Given the description of an element on the screen output the (x, y) to click on. 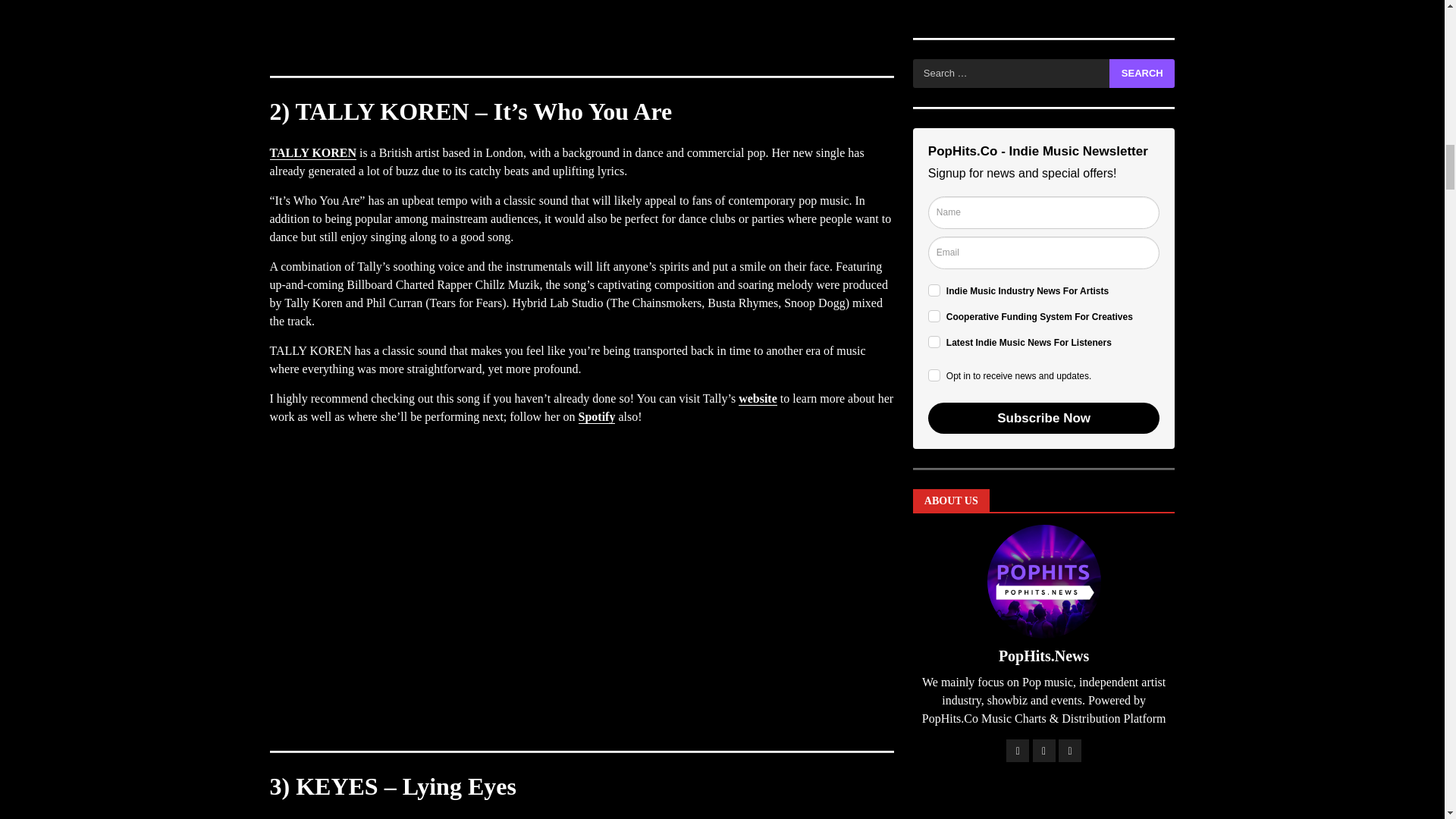
Spotify Embed: IYOAB (581, 30)
